Given the description of an element on the screen output the (x, y) to click on. 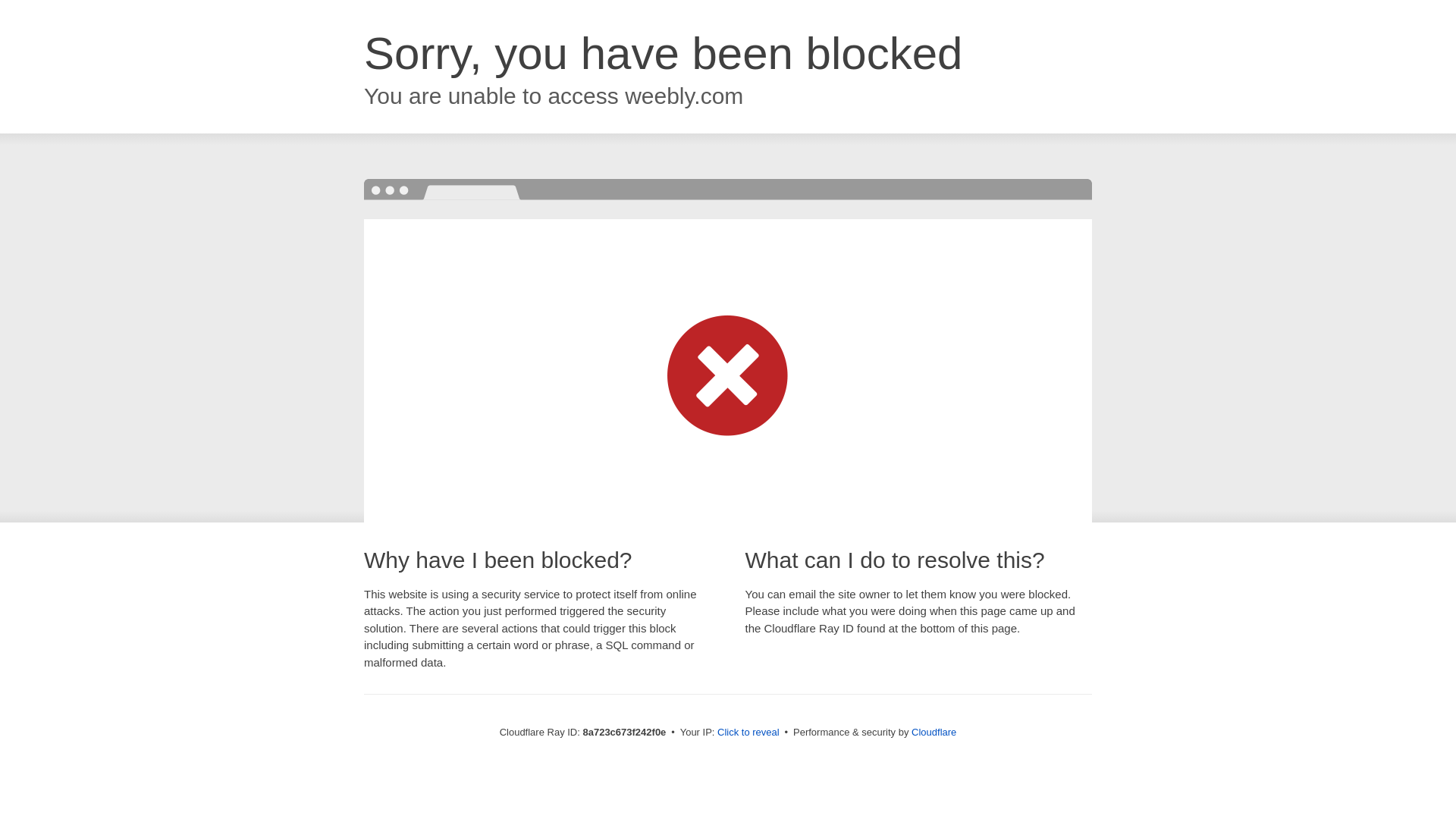
Cloudflare (933, 731)
Click to reveal (747, 732)
